Given the description of an element on the screen output the (x, y) to click on. 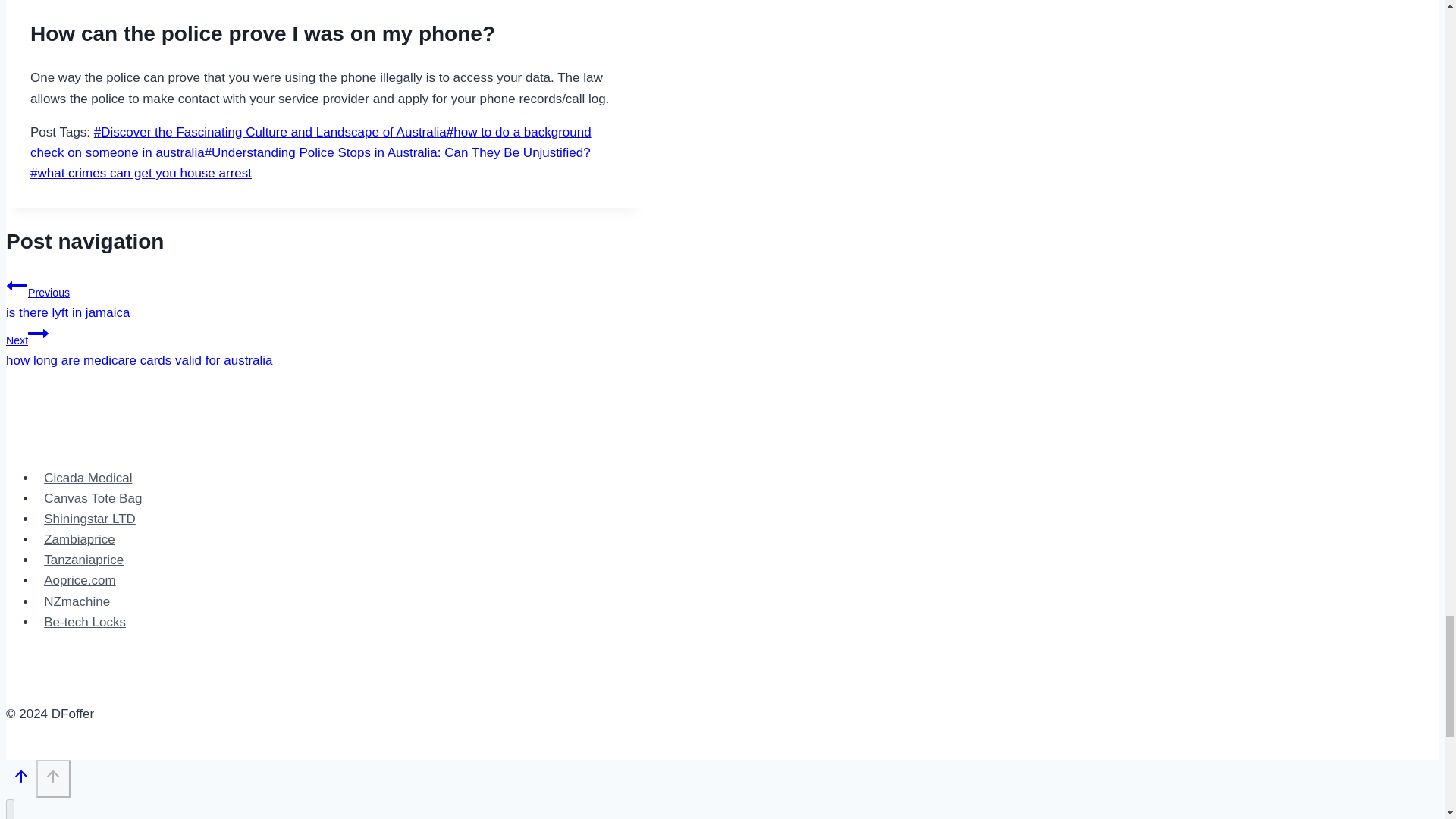
Continue (37, 332)
Discover the Fascinating Culture and Landscape of Australia (270, 132)
Cicada Medical (325, 344)
Previous (87, 477)
Scroll to top (16, 285)
how to do a background check on someone in australia (20, 776)
Canvas Tote Bag (325, 297)
